Given the description of an element on the screen output the (x, y) to click on. 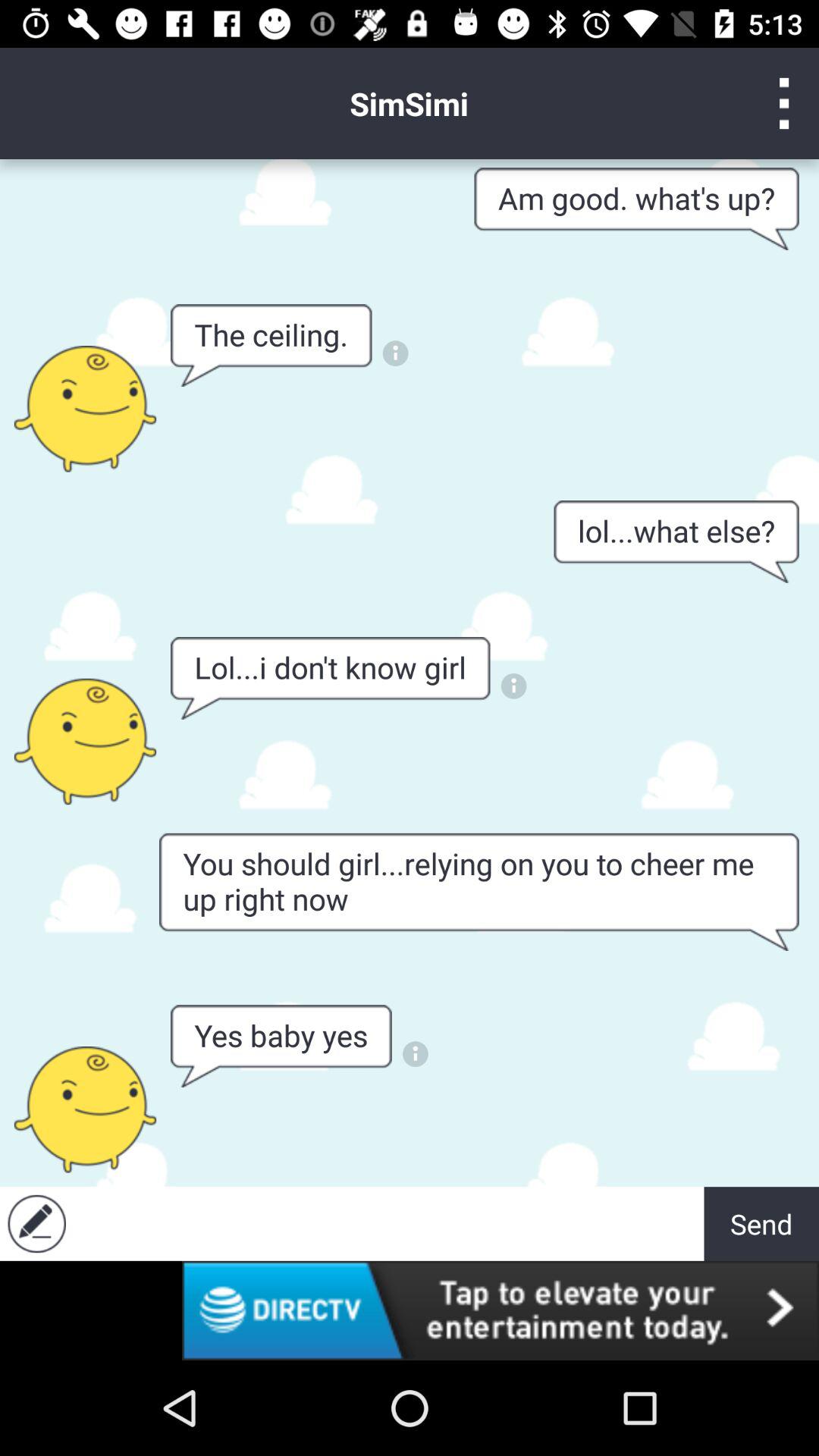
click on add (388, 1223)
